Given the description of an element on the screen output the (x, y) to click on. 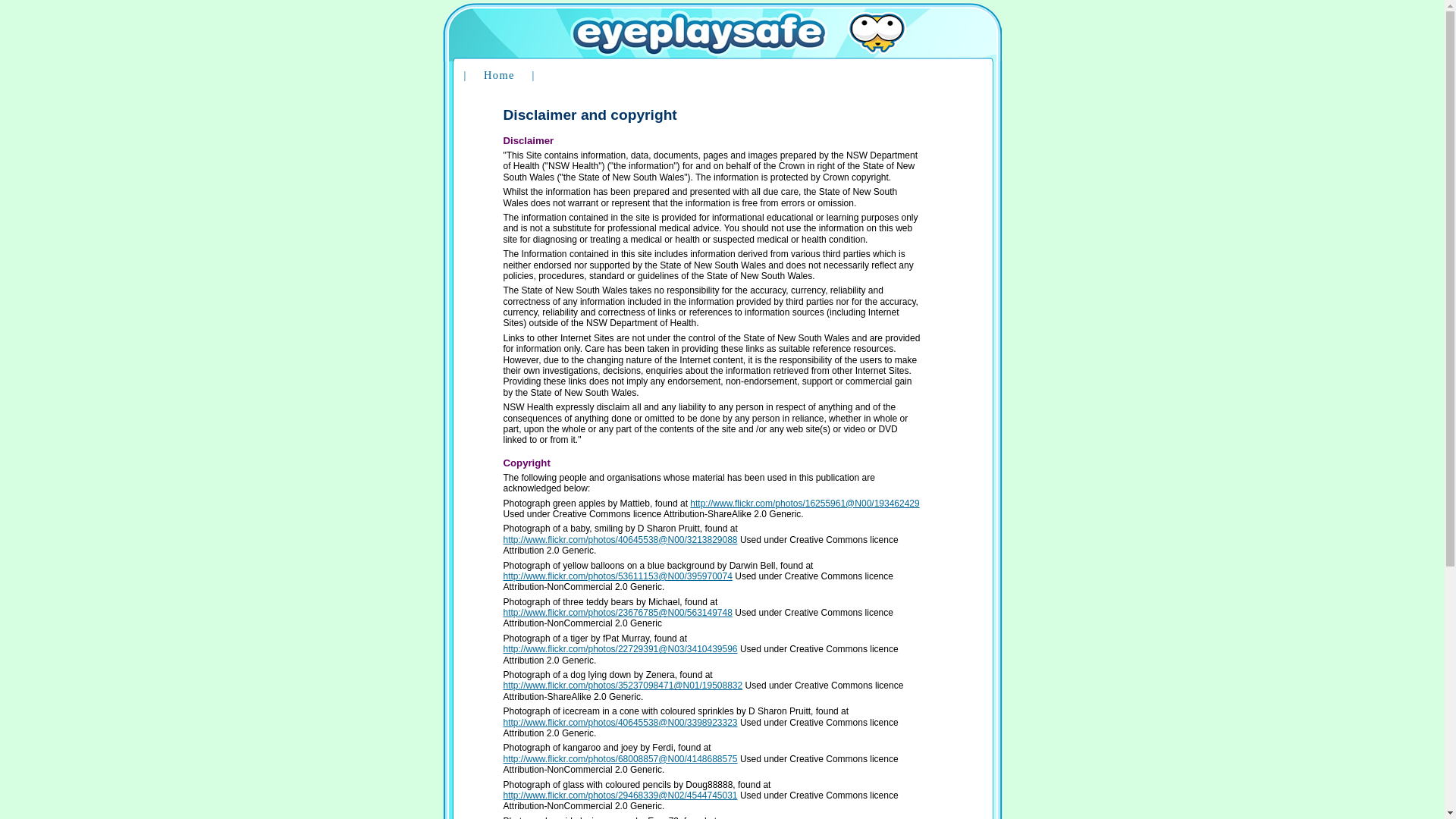
http://www.flickr.com/photos/40645538@N00/3213829088 Element type: text (620, 539)
http://www.flickr.com/photos/35237098471@N01/19508832 Element type: text (623, 685)
http://www.flickr.com/photos/68008857@N00/4148688575 Element type: text (620, 758)
http://www.flickr.com/photos/53611153@N00/395970074 Element type: text (617, 576)
Home Element type: text (499, 75)
http://www.flickr.com/photos/40645538@N00/3398923323 Element type: text (620, 722)
http://www.flickr.com/photos/16255961@N00/193462429 Element type: text (804, 503)
http://www.flickr.com/photos/22729391@N03/3410439596 Element type: text (620, 648)
http://www.flickr.com/photos/23676785@N00/563149748 Element type: text (617, 612)
http://www.flickr.com/photos/29468339@N02/4544745031 Element type: text (620, 795)
